Given the description of an element on the screen output the (x, y) to click on. 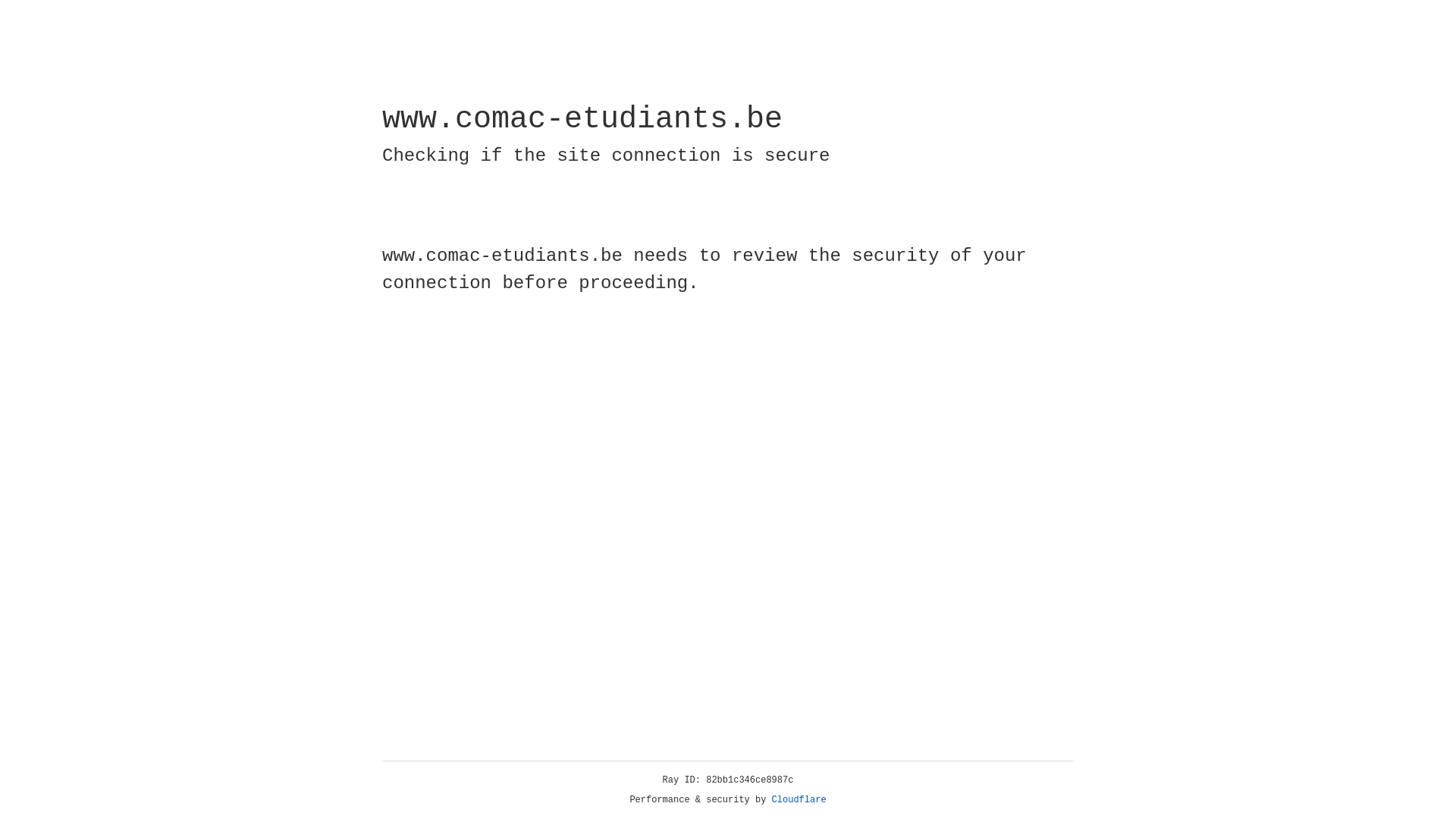
Cloudflare Element type: text (798, 799)
